Given the description of an element on the screen output the (x, y) to click on. 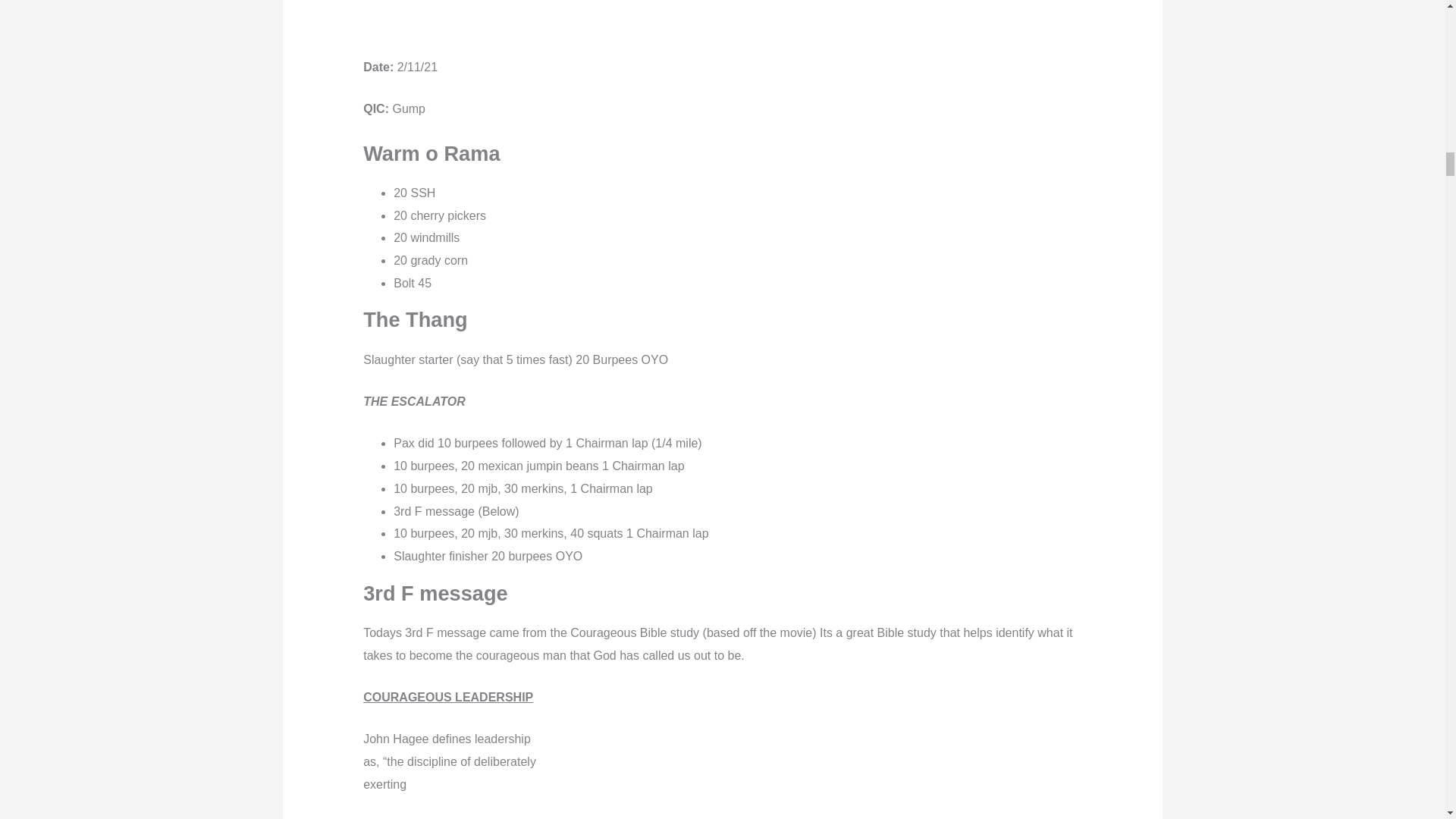
February 11, 2021 (721, 28)
